Given the description of an element on the screen output the (x, y) to click on. 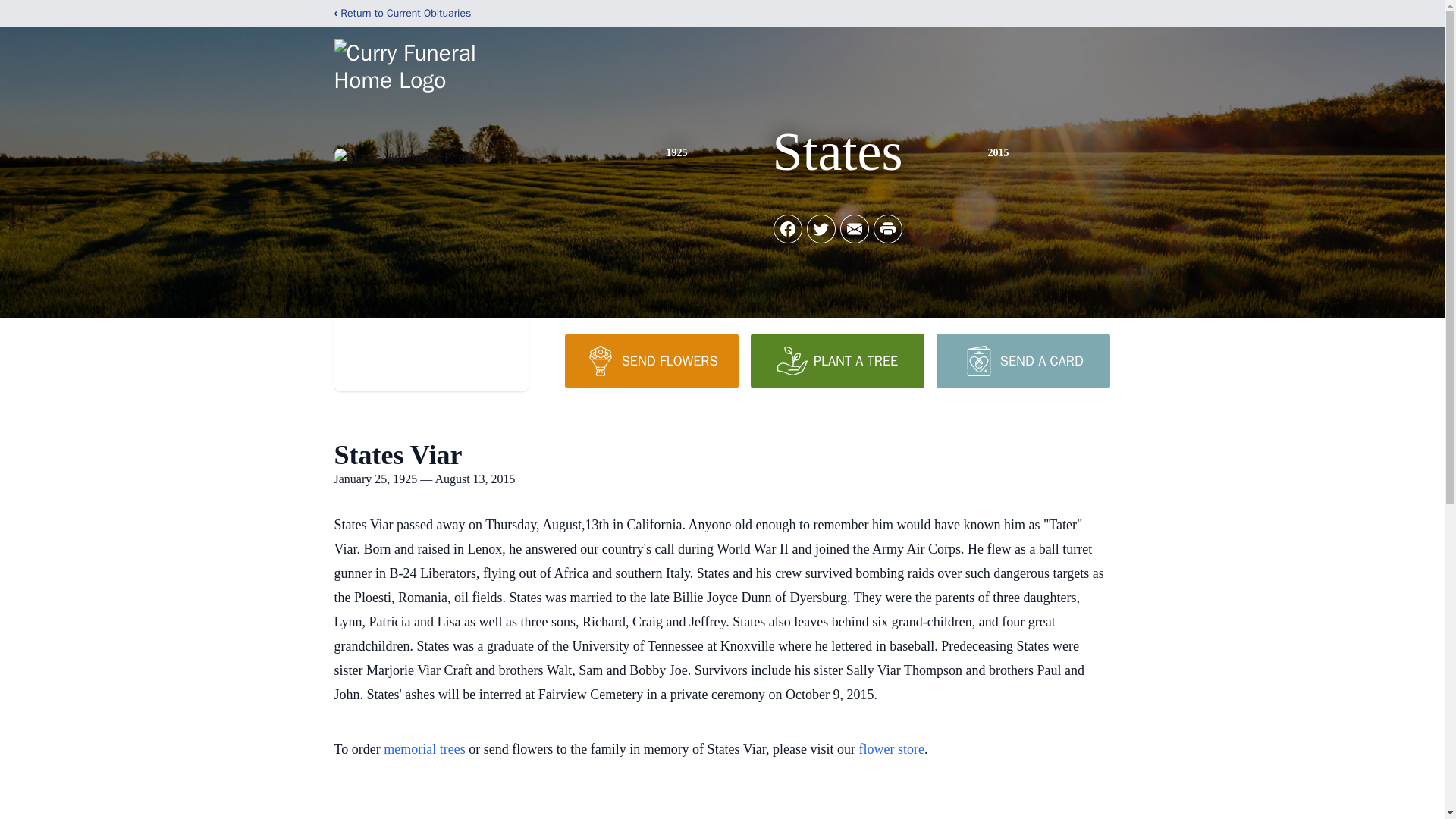
SEND FLOWERS (651, 360)
SEND A CARD (1022, 360)
PLANT A TREE (837, 360)
memorial trees (424, 749)
flower store (891, 749)
